Given the description of an element on the screen output the (x, y) to click on. 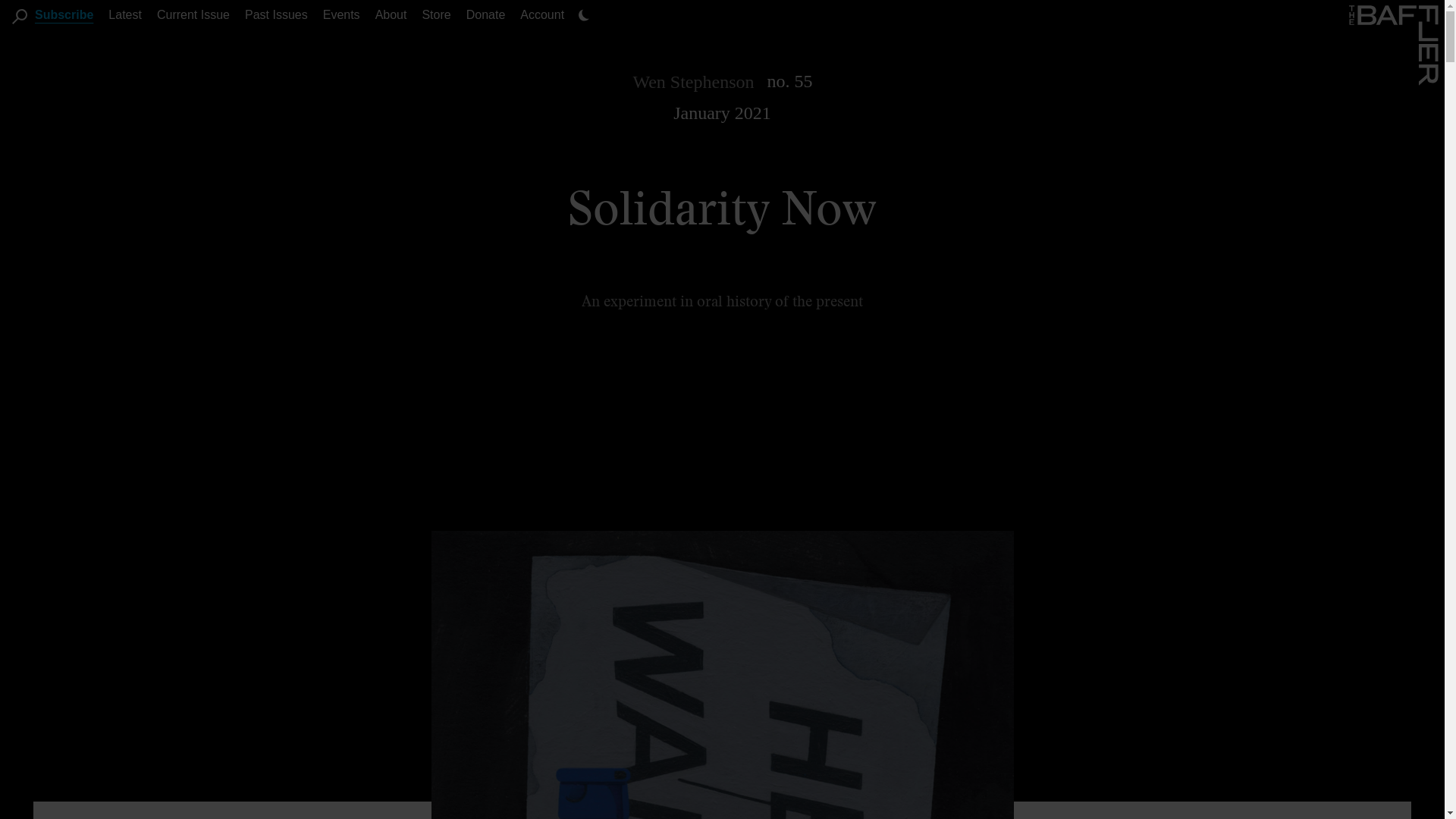
Current Issue (193, 14)
Dark Mode Settings (583, 15)
Account (541, 14)
Subscribe (63, 14)
Store (435, 14)
Donate (485, 14)
Past Issues (275, 14)
Wen Stephenson (692, 81)
no. 55 (789, 80)
January 2021 (721, 112)
